Given the description of an element on the screen output the (x, y) to click on. 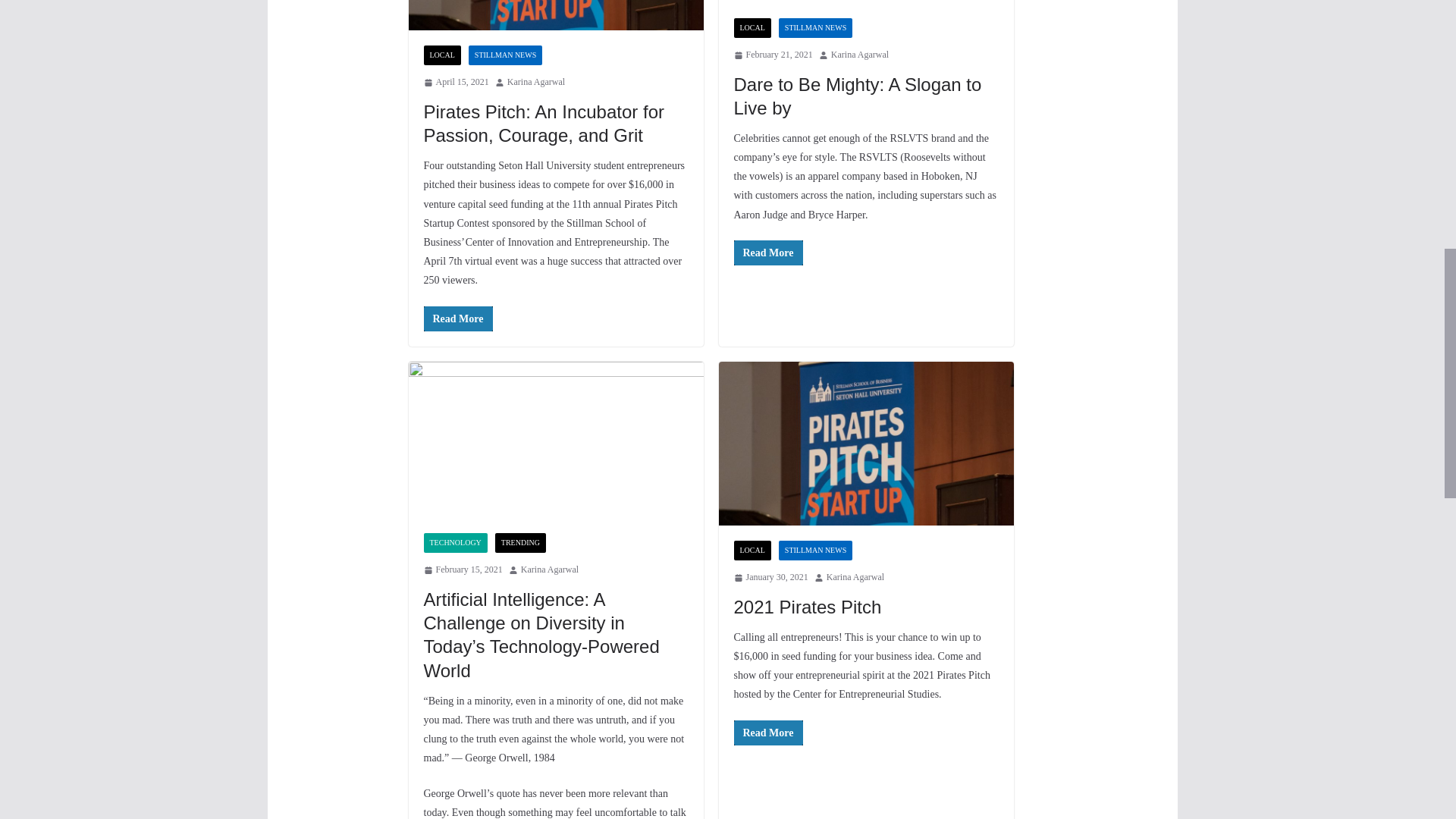
6:47 pm (772, 54)
Karina Agarwal (535, 82)
Pirates Pitch: An Incubator for Passion, Courage, and Grit (543, 123)
Read More (768, 252)
February 15, 2021 (462, 569)
STILLMAN NEWS (814, 27)
Pirates Pitch: An Incubator for Passion, Courage, and Grit (555, 15)
LOCAL (752, 27)
Karina Agarwal (859, 54)
